Given the description of an element on the screen output the (x, y) to click on. 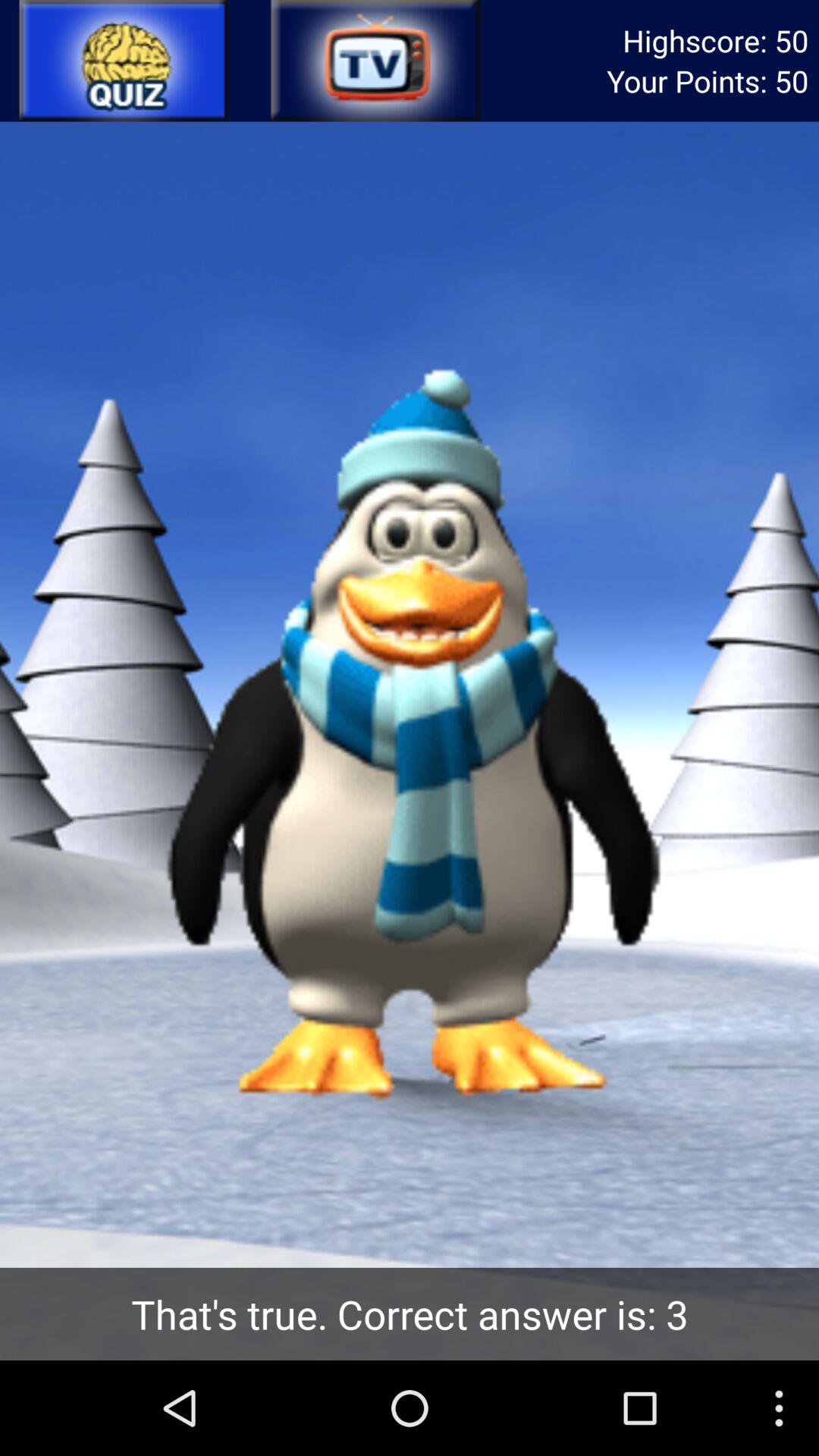
switch tv option (373, 60)
